Given the description of an element on the screen output the (x, y) to click on. 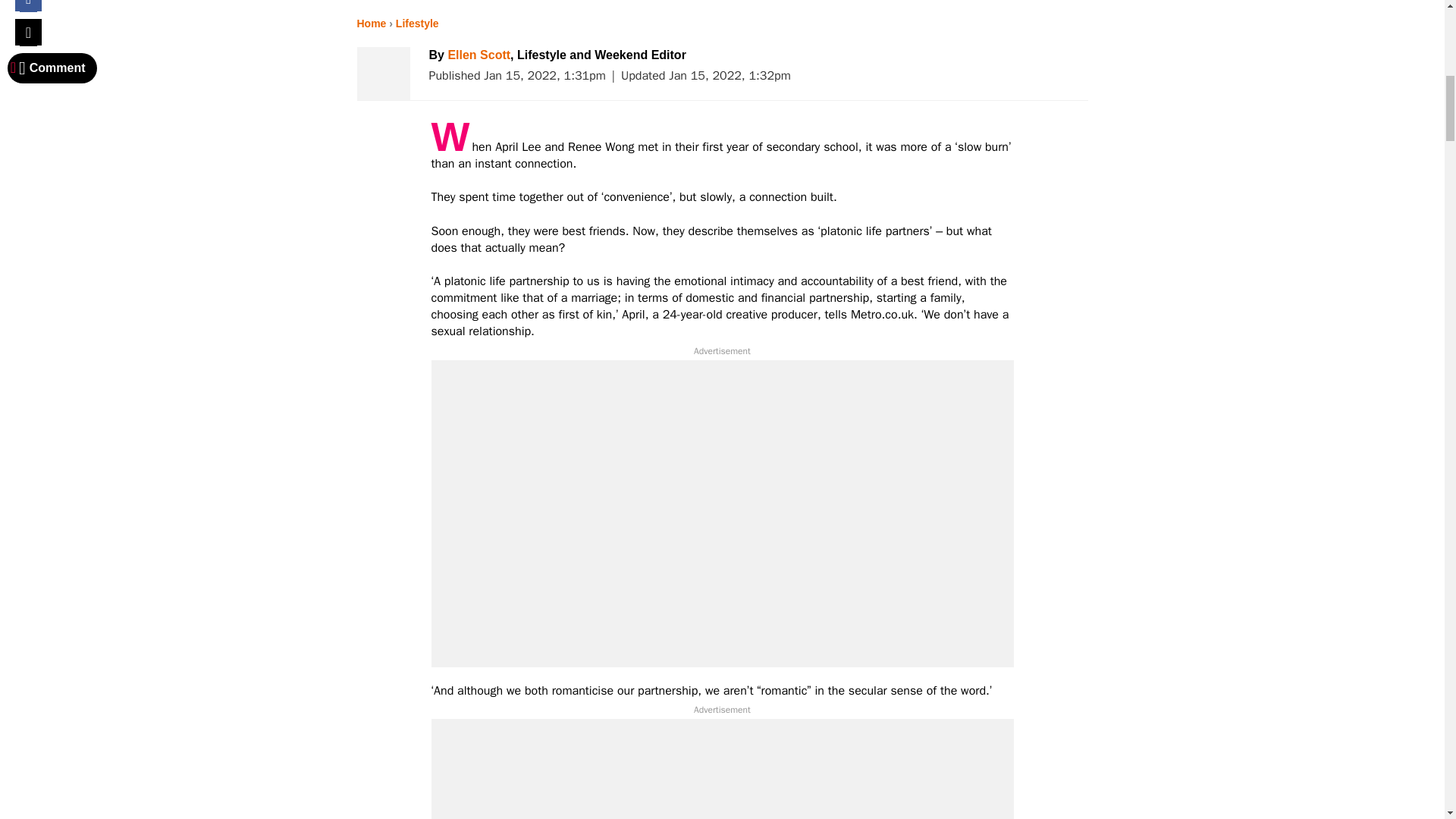
Ellen Scott (478, 54)
Comment (52, 68)
Lifestyle (417, 23)
Home (370, 23)
